Given the description of an element on the screen output the (x, y) to click on. 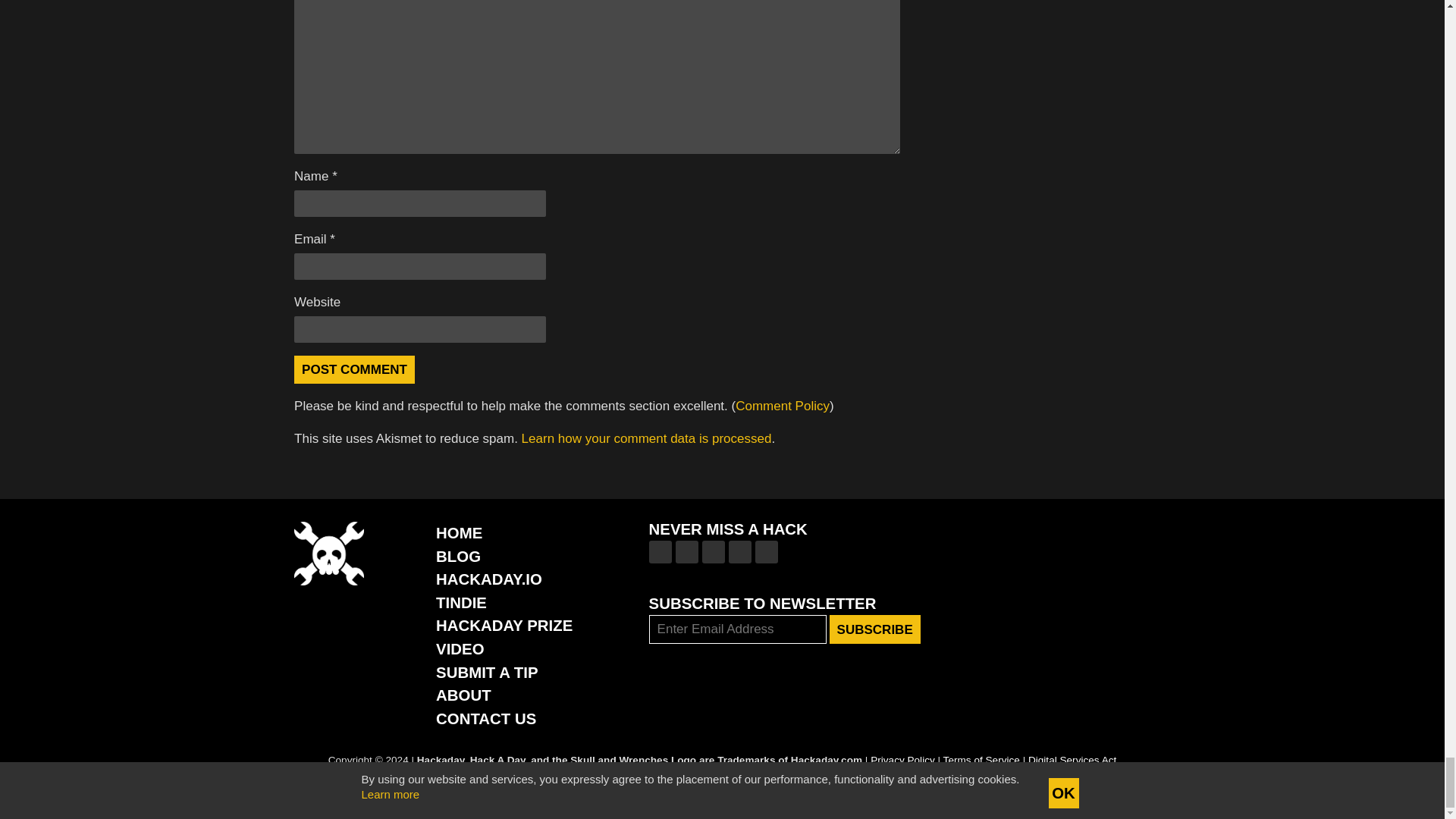
Post Comment (354, 369)
Subscribe (874, 629)
Build Something that Matters (503, 625)
